Given the description of an element on the screen output the (x, y) to click on. 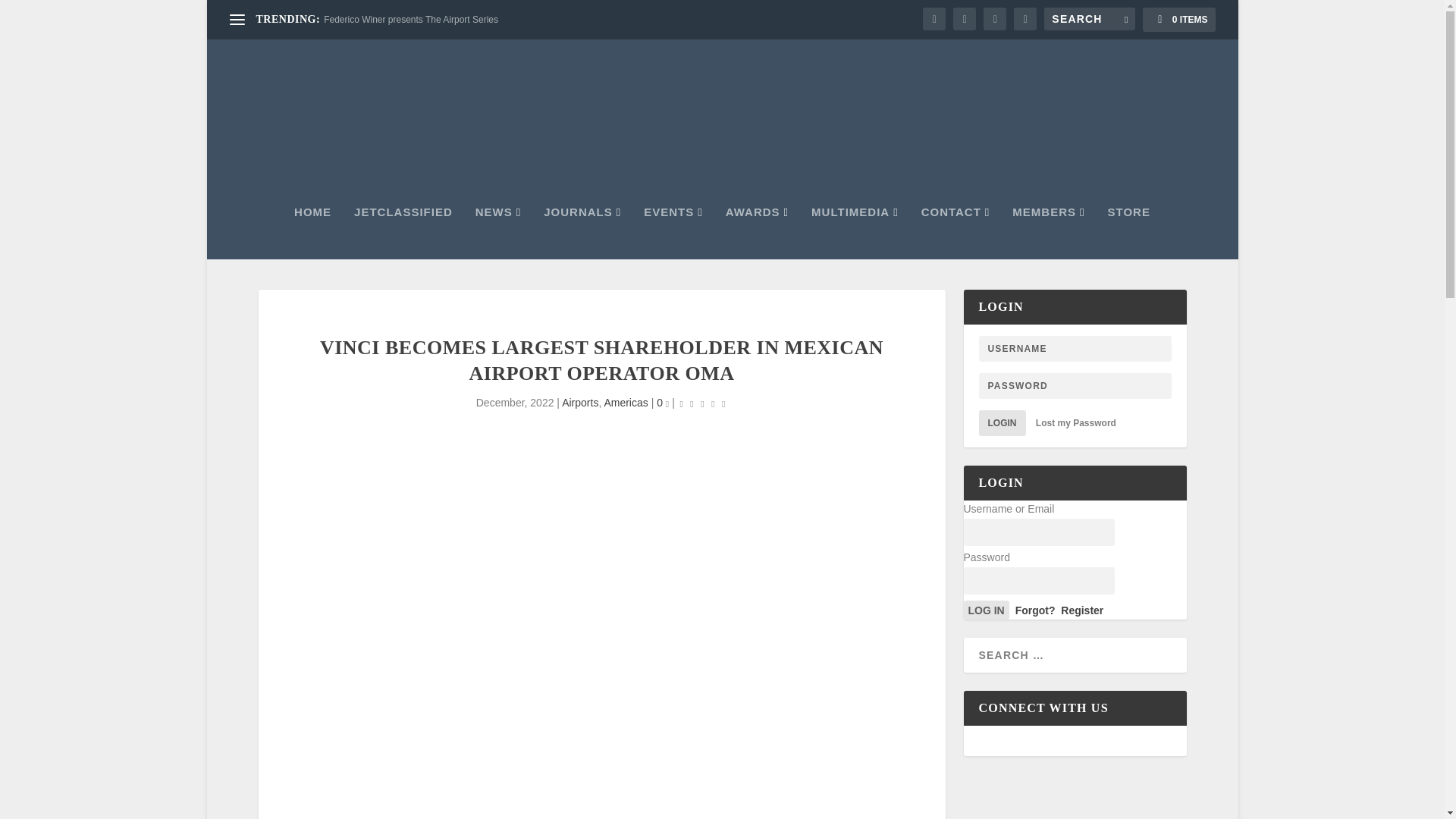
Rating: 0.00 (703, 403)
JOURNALS (582, 232)
log in (985, 609)
JETCLASSIFIED (402, 232)
Federico Winer presents The Airport Series (410, 19)
